Given the description of an element on the screen output the (x, y) to click on. 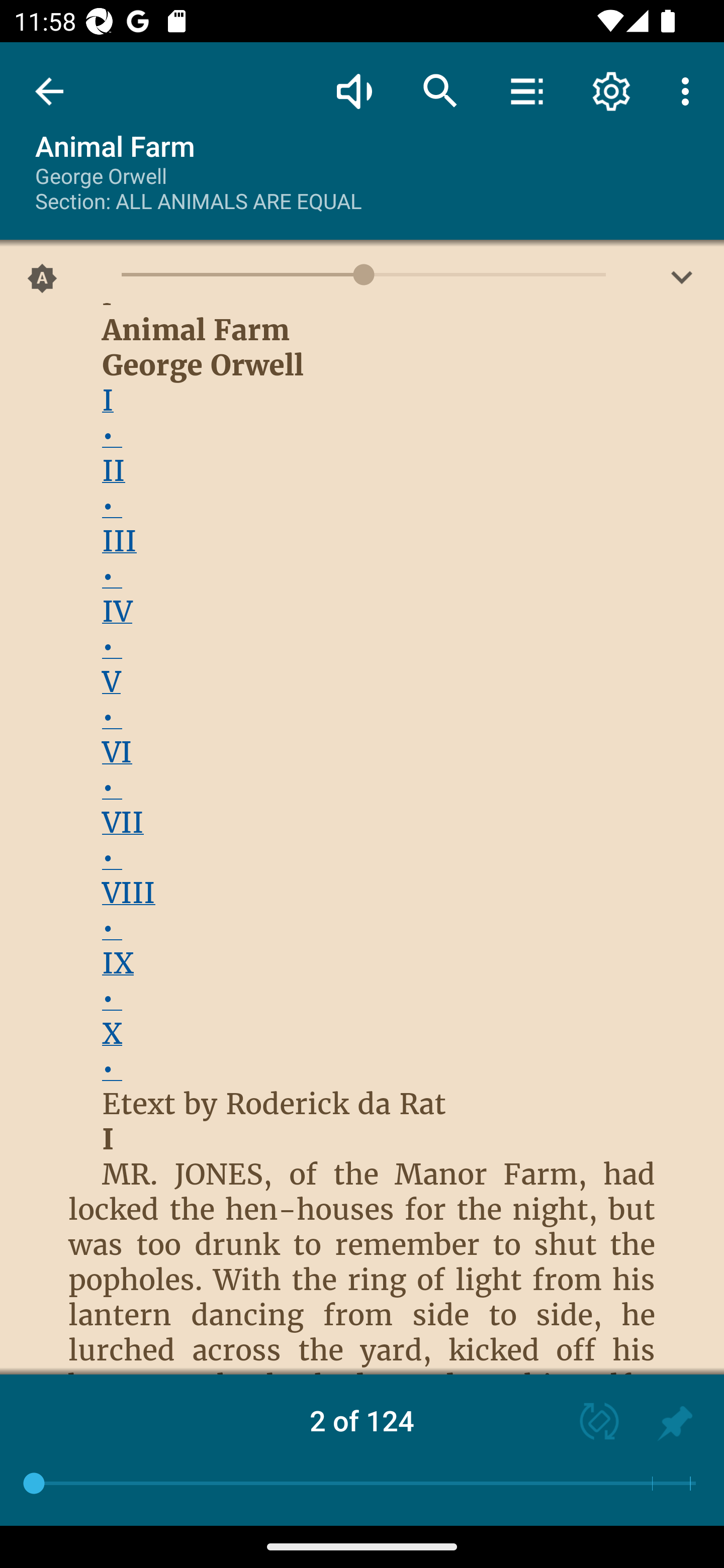
Exit reading (49, 91)
Read aloud (354, 90)
Text search (440, 90)
Contents / Bookmarks / Quotes (526, 90)
Reading settings (611, 90)
More options (688, 90)
Selected screen brightness (42, 281)
Screen brightness settings (681, 281)
2 of 124 (361, 1420)
Screen orientation (590, 1423)
Add to history (674, 1423)
